Given the description of an element on the screen output the (x, y) to click on. 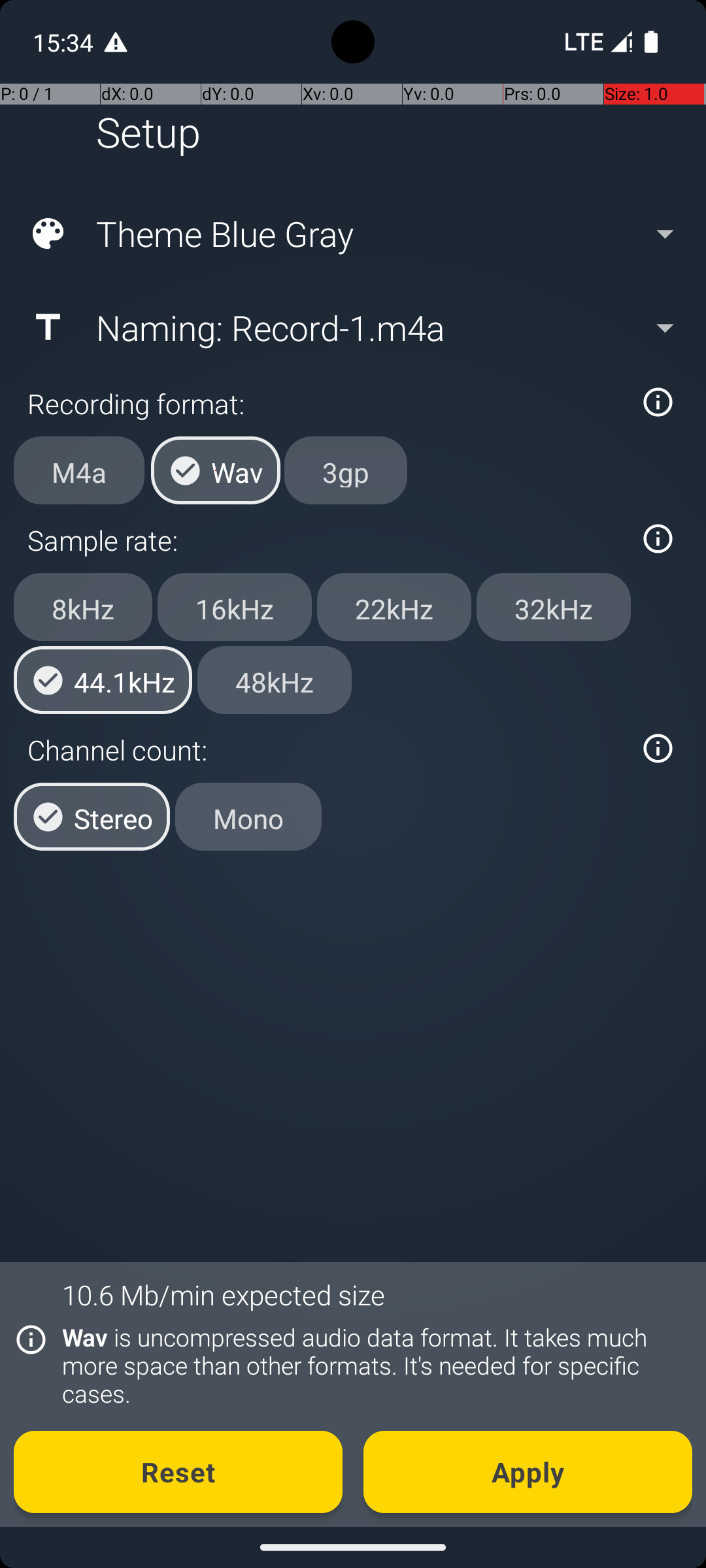
10.6 Mb/min expected size Element type: android.widget.TextView (223, 1294)
Wav is uncompressed audio data format. It takes much more space than other formats. It's needed for specific cases. Element type: android.widget.TextView (370, 1364)
